Given the description of an element on the screen output the (x, y) to click on. 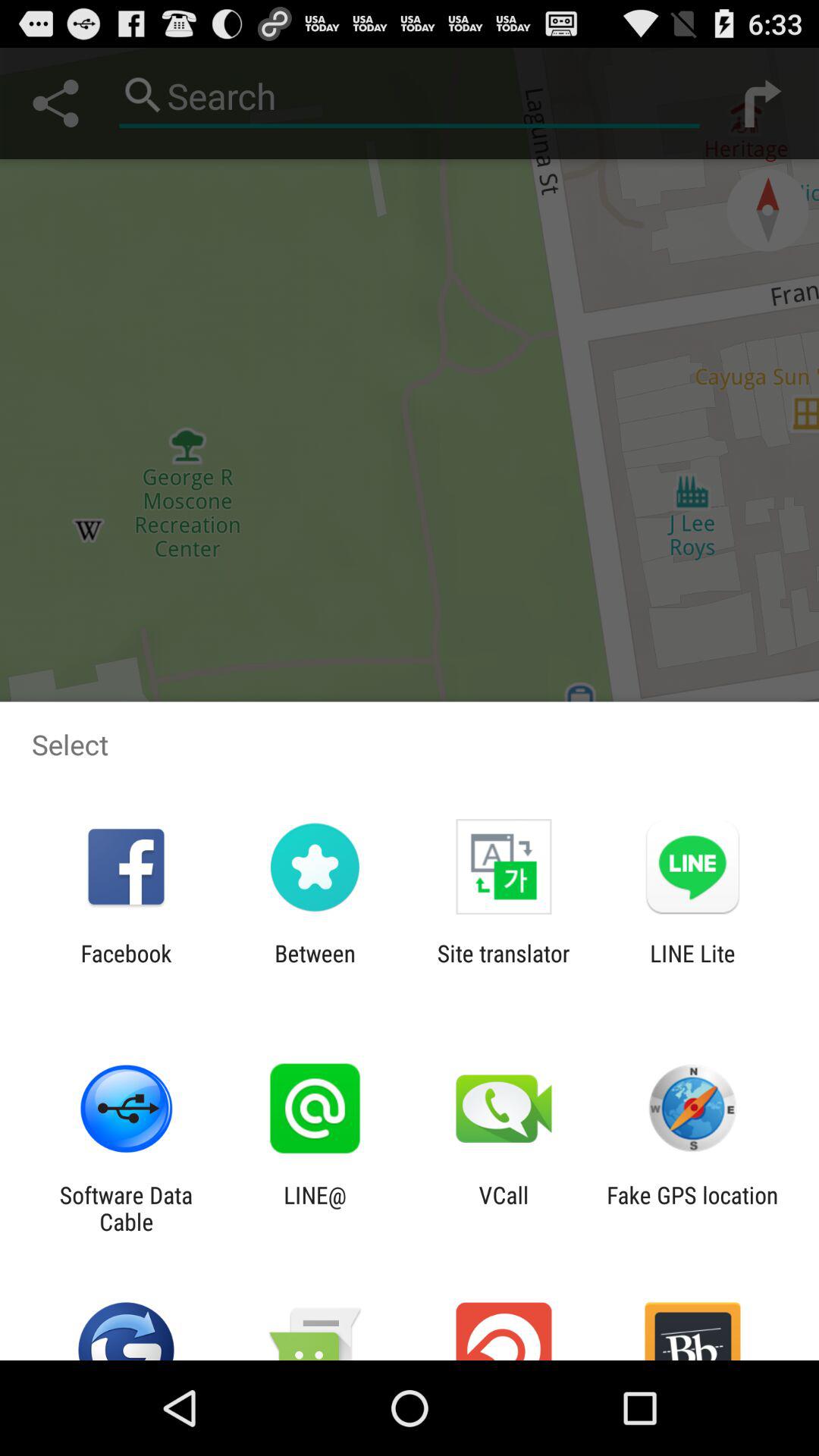
select item to the right of facebook (314, 966)
